Given the description of an element on the screen output the (x, y) to click on. 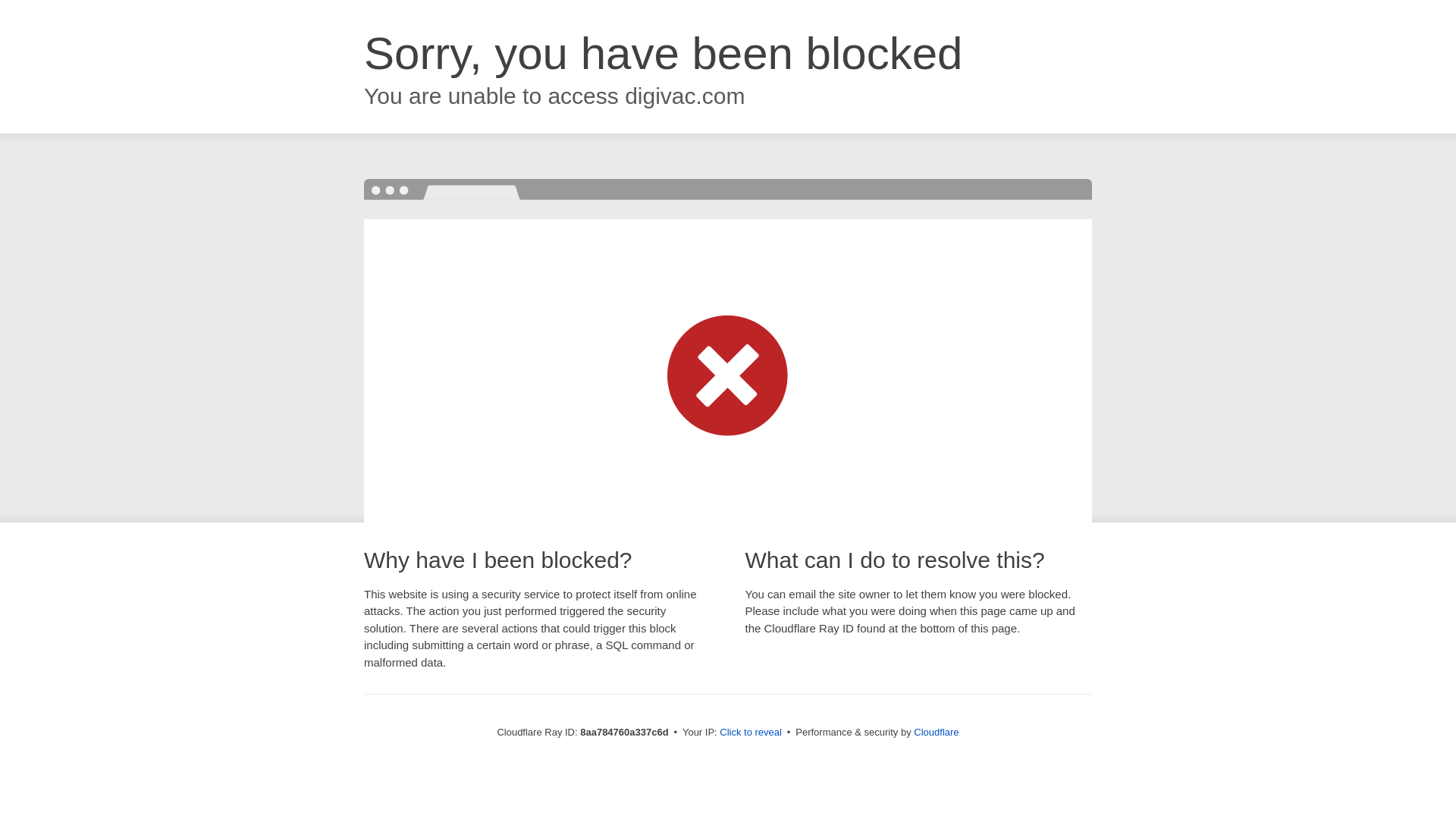
Click to reveal (750, 732)
Cloudflare (936, 731)
